Given the description of an element on the screen output the (x, y) to click on. 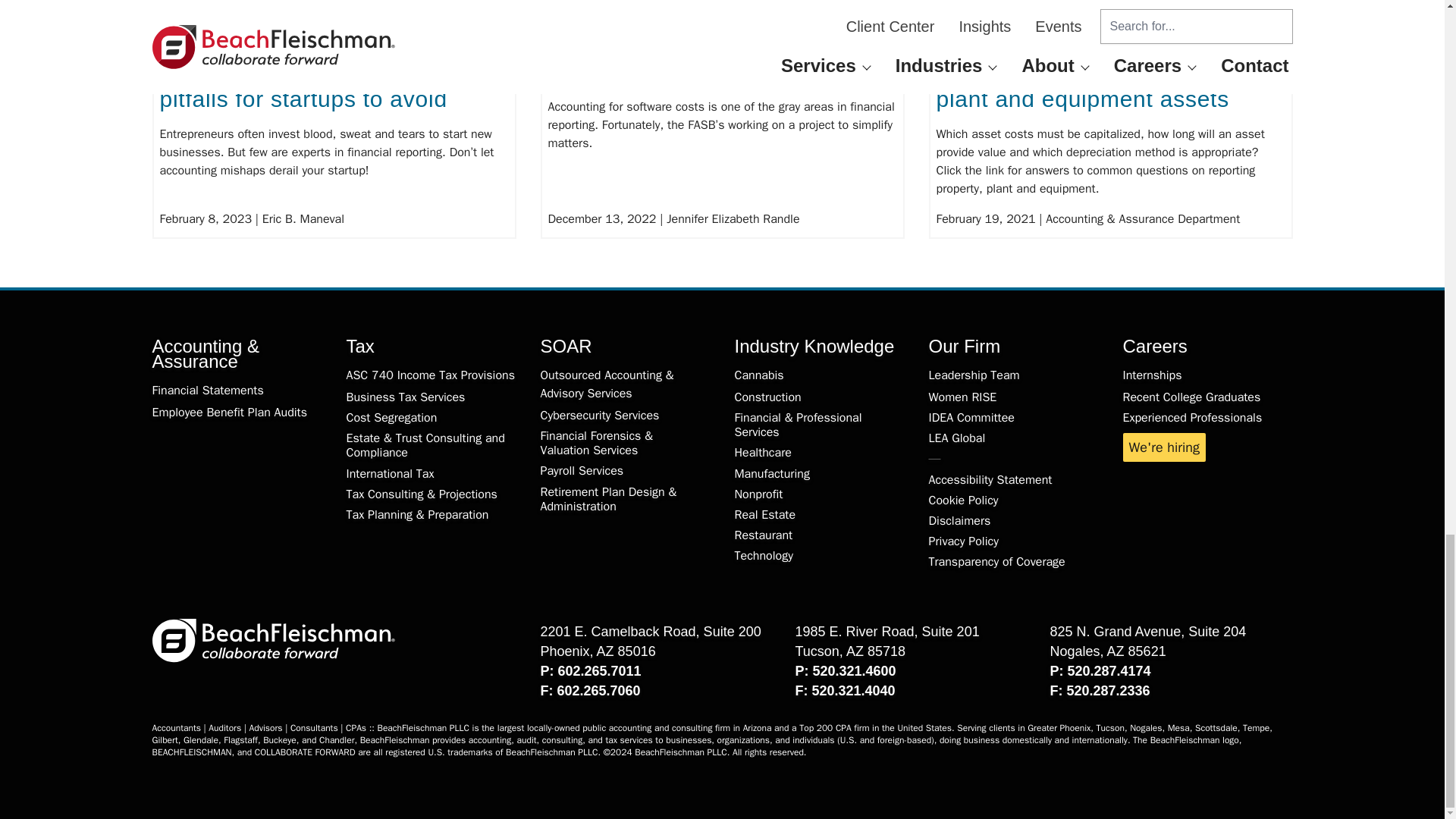
Posts by Eric B. Maneval (302, 218)
Posts by Jennifer Elizabeth Randle (732, 218)
